Given the description of an element on the screen output the (x, y) to click on. 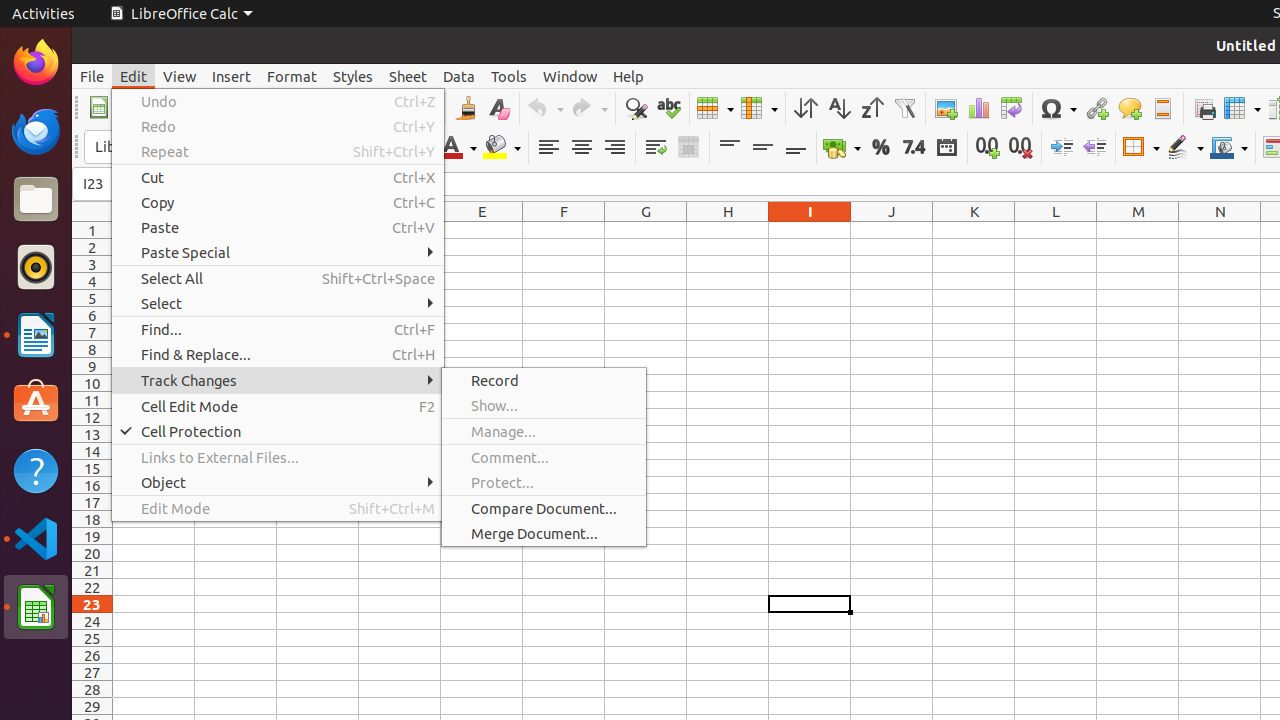
Activities Element type: label (43, 13)
Merge Document... Element type: menu-item (544, 533)
Spelling Element type: push-button (668, 108)
Select All Element type: menu-item (278, 278)
Find & Replace Element type: toggle-button (635, 108)
